Given the description of an element on the screen output the (x, y) to click on. 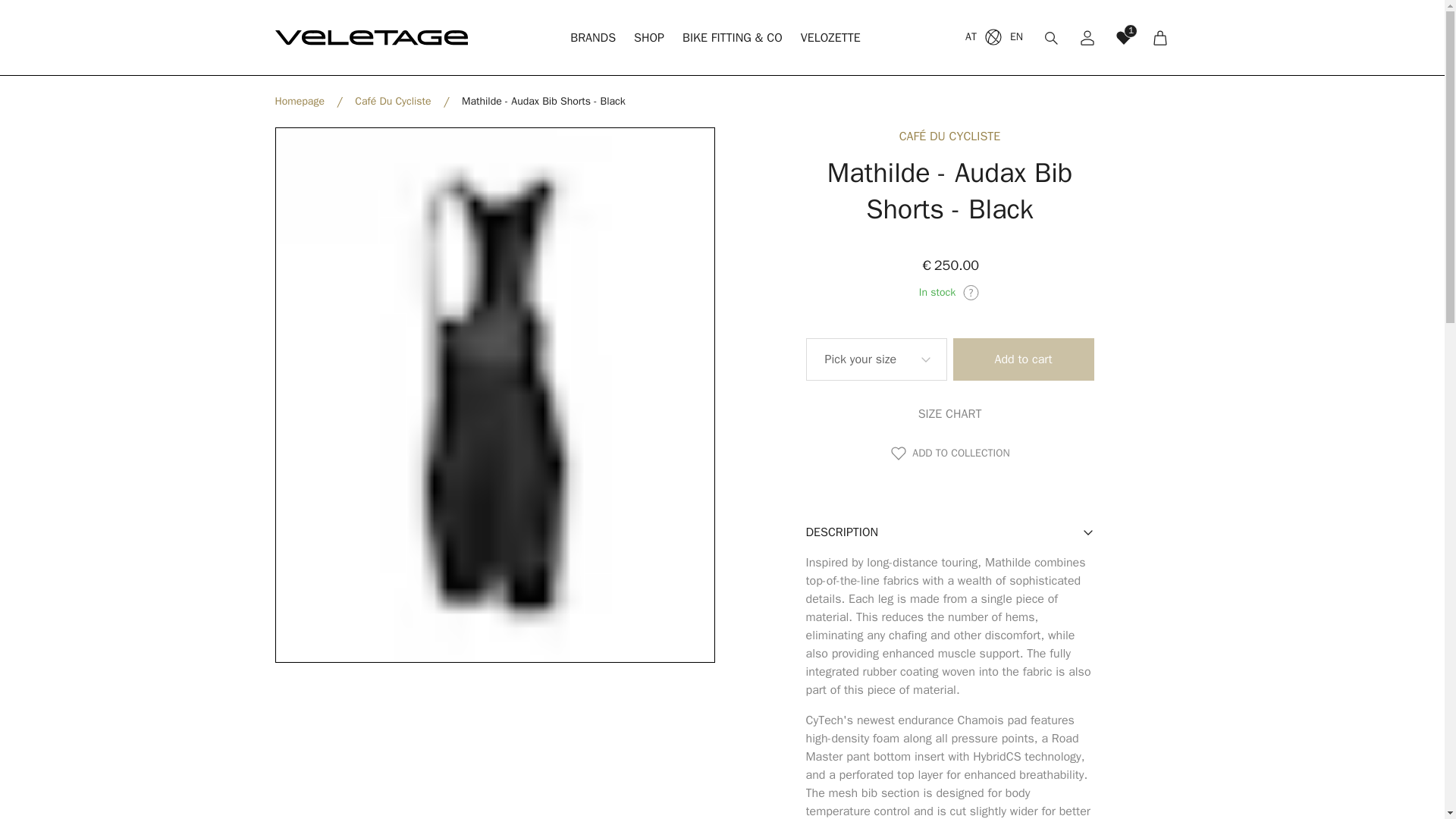
DESCRIPTION (949, 532)
Homepage (299, 101)
Brands (992, 37)
SHOP (592, 38)
BRANDS (648, 38)
Add Mathilde - Audax Bib Shorts - Black to collection (592, 38)
ADD TO COLLECTION (949, 453)
1 (949, 453)
Add to cart (1123, 37)
SIZE CHART (1022, 359)
Velozette (949, 413)
XL (830, 38)
Shop (875, 359)
VELOZETTE (648, 38)
